Given the description of an element on the screen output the (x, y) to click on. 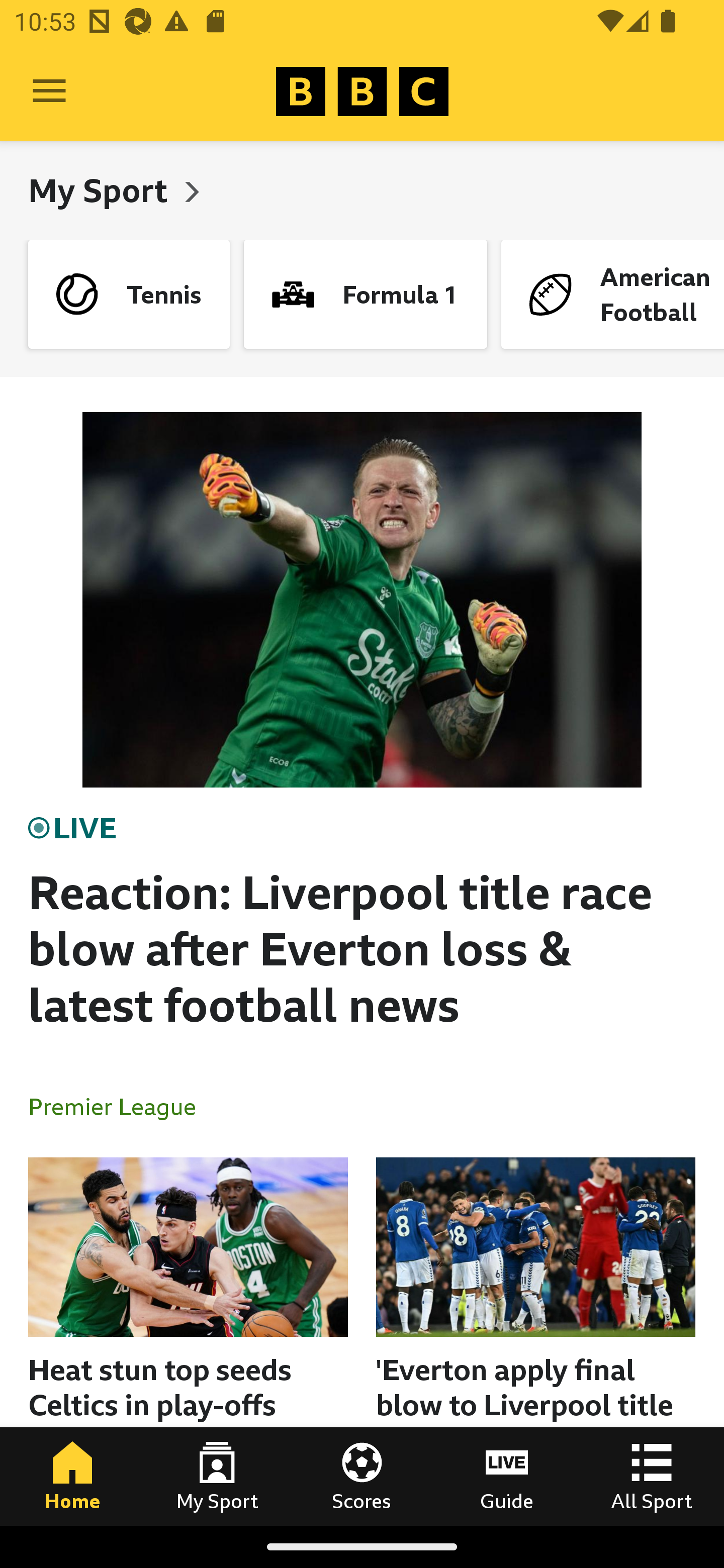
Open Menu (49, 91)
My Sport (101, 190)
Premier League In the section Premier League (119, 1106)
My Sport (216, 1475)
Scores (361, 1475)
Guide (506, 1475)
All Sport (651, 1475)
